Given the description of an element on the screen output the (x, y) to click on. 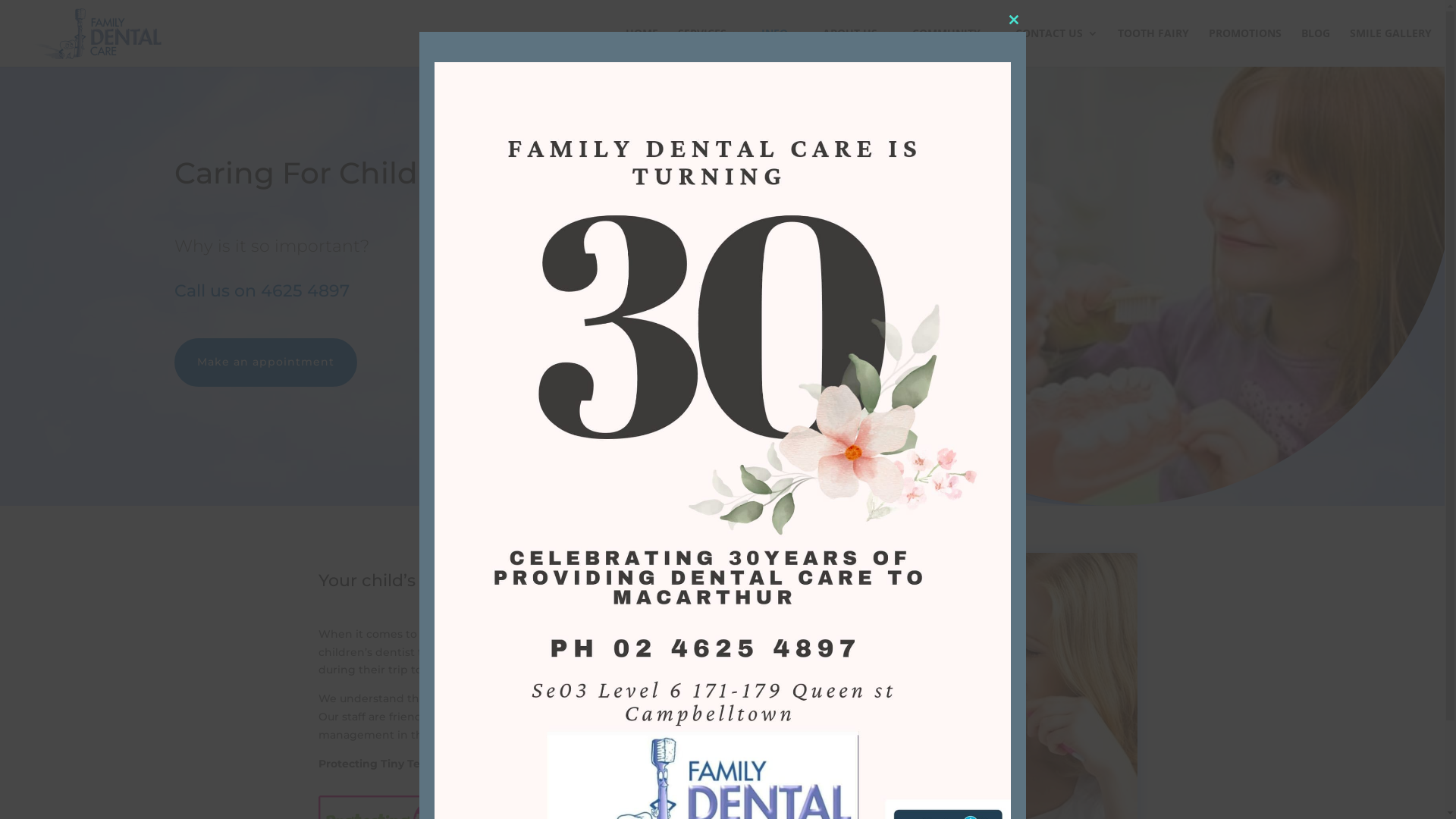
Close this module Element type: text (1013, 19)
TOOTH FAIRY Element type: text (1153, 47)
PROMOTIONS Element type: text (1244, 47)
SMILE GALLERY Element type: text (1390, 47)
CONTACT US Element type: text (1056, 47)
INFO Element type: text (782, 47)
COMMUNITY Element type: text (953, 47)
ABOUT US Element type: text (857, 47)
Make an appointment Element type: text (265, 362)
HOME Element type: text (641, 47)
BLOG Element type: text (1315, 47)
SERVICES Element type: text (709, 47)
